Given the description of an element on the screen output the (x, y) to click on. 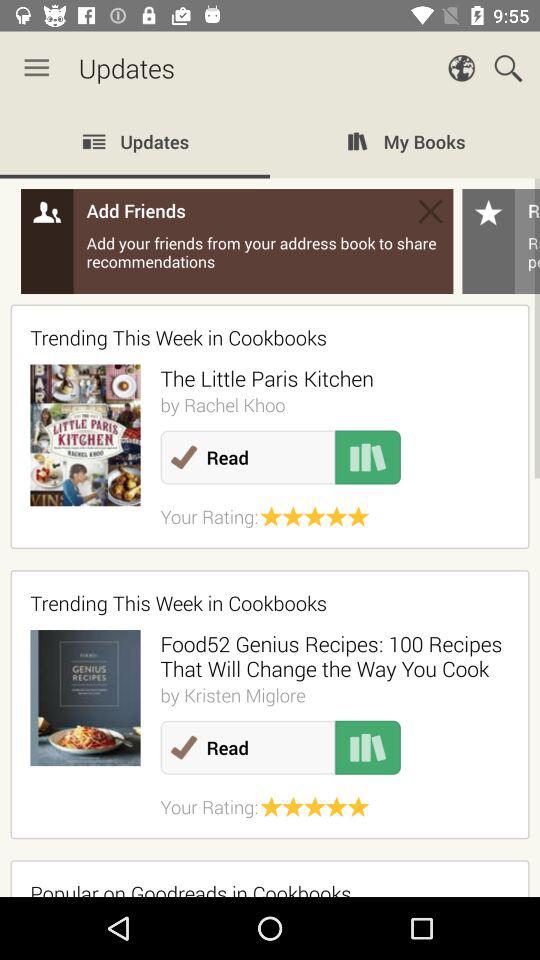
close add friends box (430, 211)
